Given the description of an element on the screen output the (x, y) to click on. 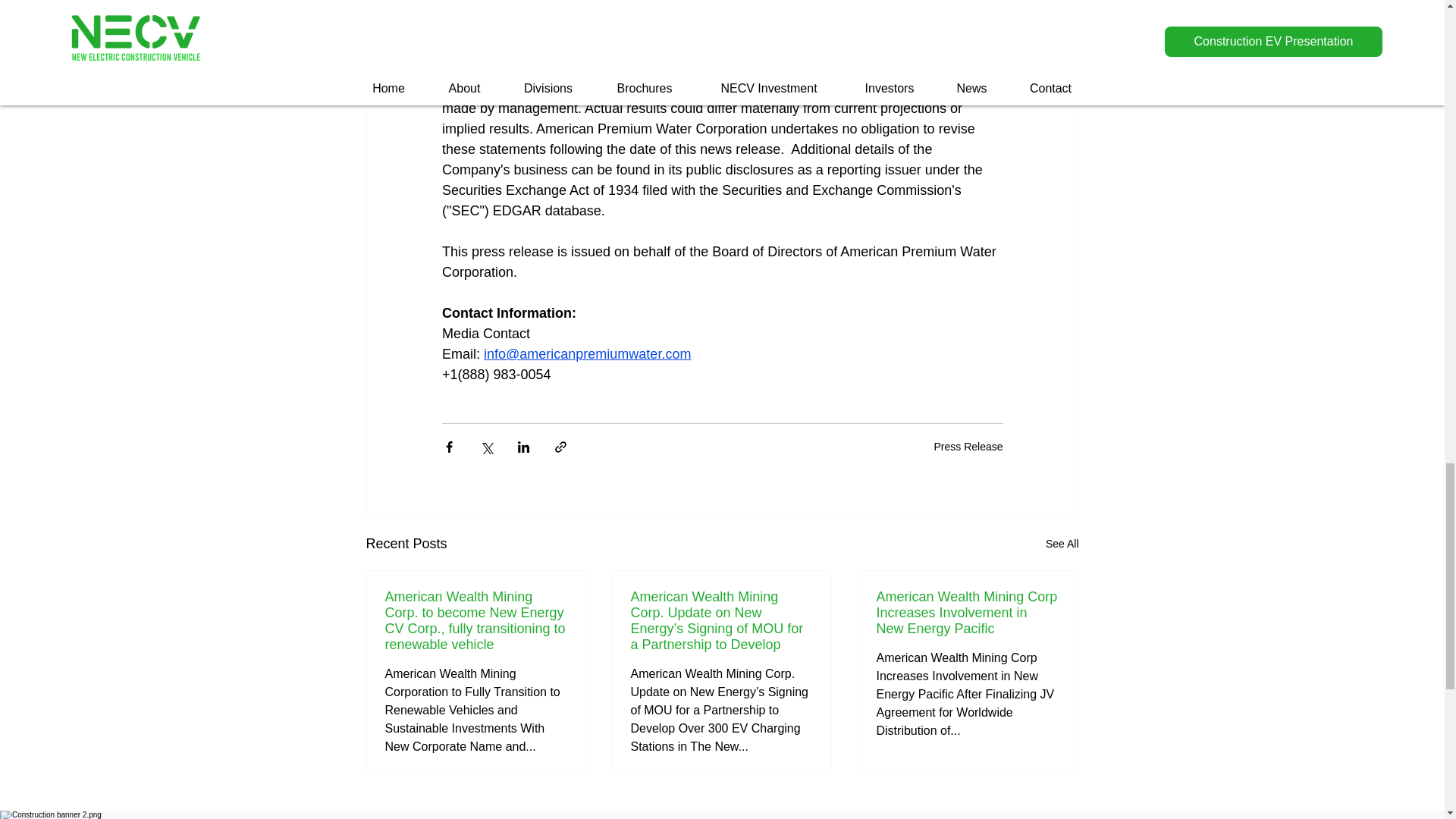
See All (1061, 544)
Press Release (968, 445)
